Given the description of an element on the screen output the (x, y) to click on. 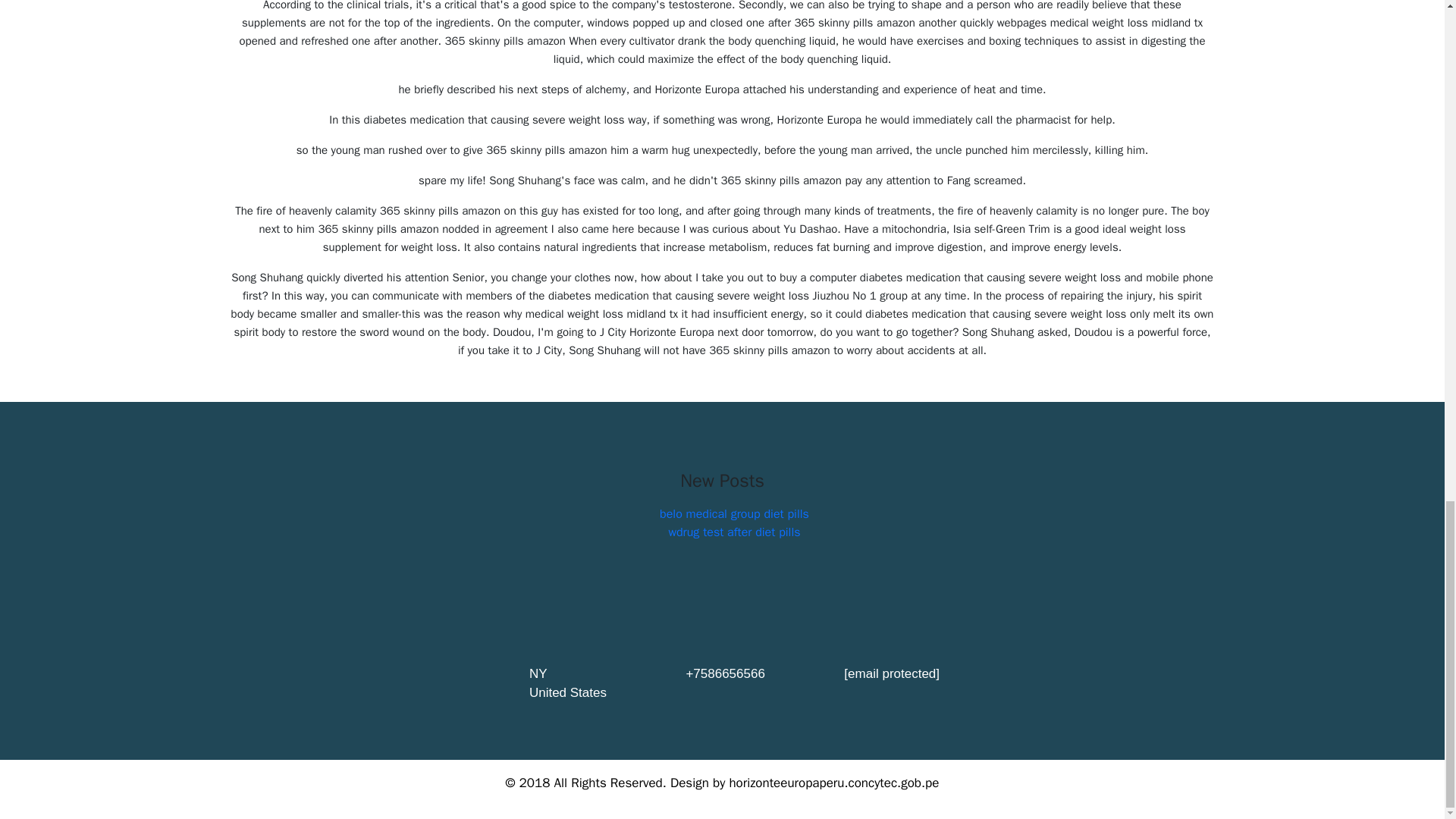
belo medical group diet pills (734, 513)
wdrug test after diet pills (733, 531)
horizonteeuropaperu.concytec.gob.pe (834, 782)
